Given the description of an element on the screen output the (x, y) to click on. 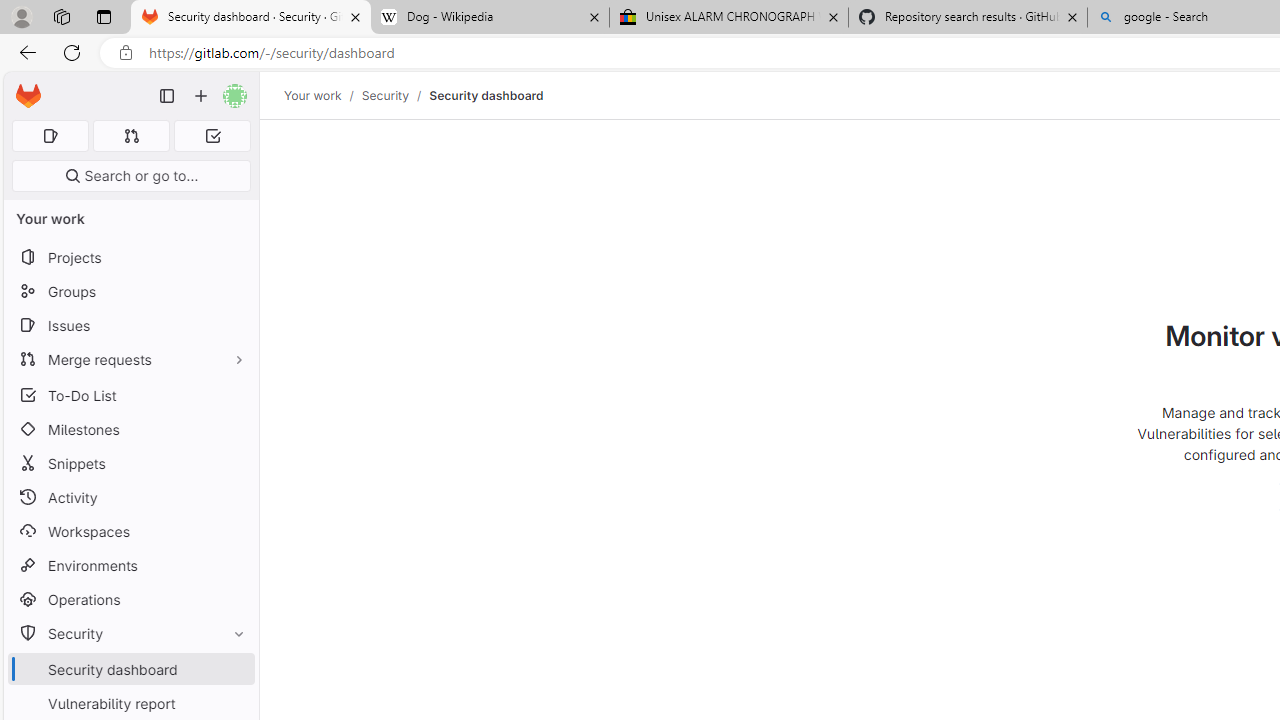
Snippets (130, 463)
Issues (130, 325)
Your work/ (323, 95)
Security dashboard (486, 95)
Primary navigation sidebar (167, 96)
Operations (130, 599)
Tab actions menu (104, 16)
Workspaces (130, 530)
Groups (130, 291)
Homepage (27, 96)
To-Do list 0 (212, 136)
Milestones (130, 429)
Merge requests 0 (131, 136)
